Given the description of an element on the screen output the (x, y) to click on. 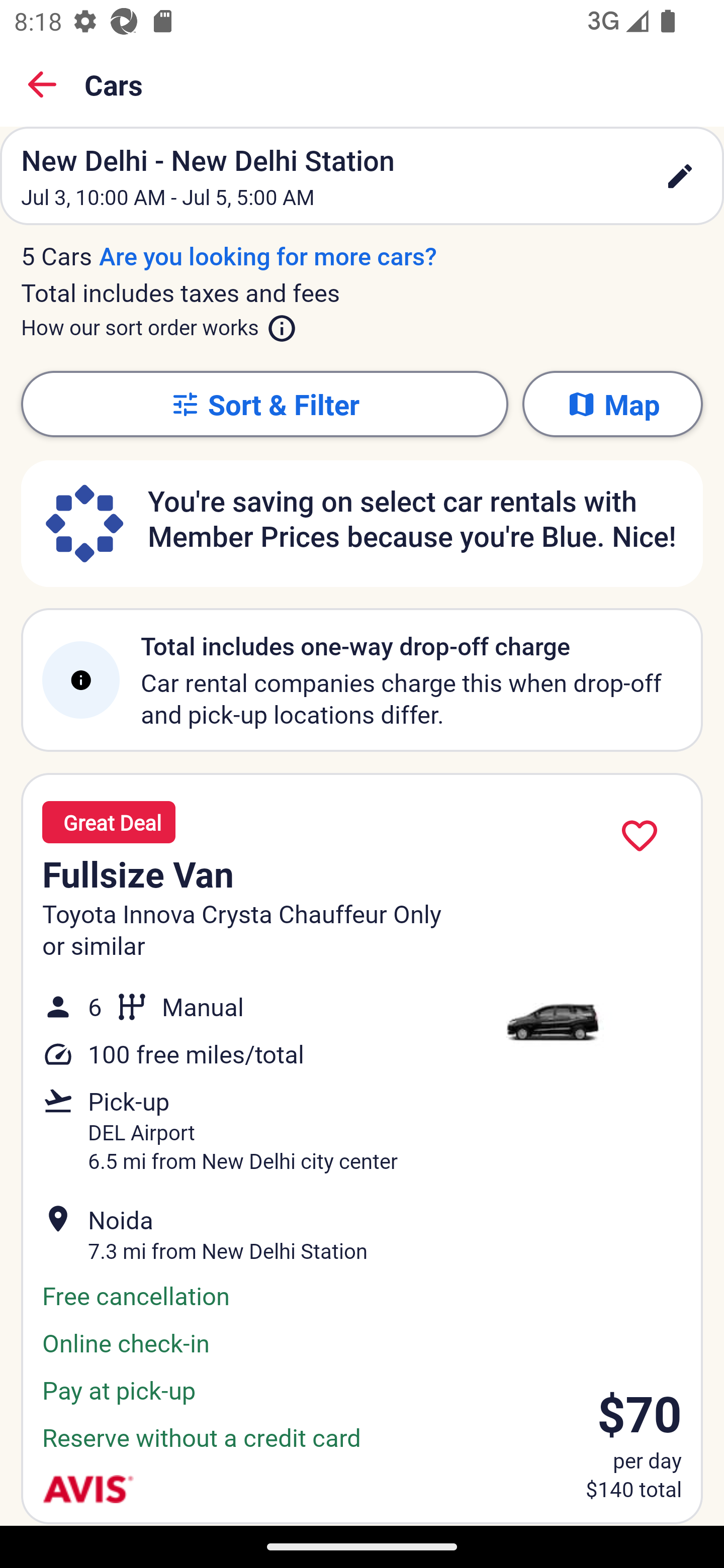
Back (42, 84)
edit (679, 175)
How our sort order works (158, 324)
Sort & Filter (264, 404)
Map (612, 404)
